Given the description of an element on the screen output the (x, y) to click on. 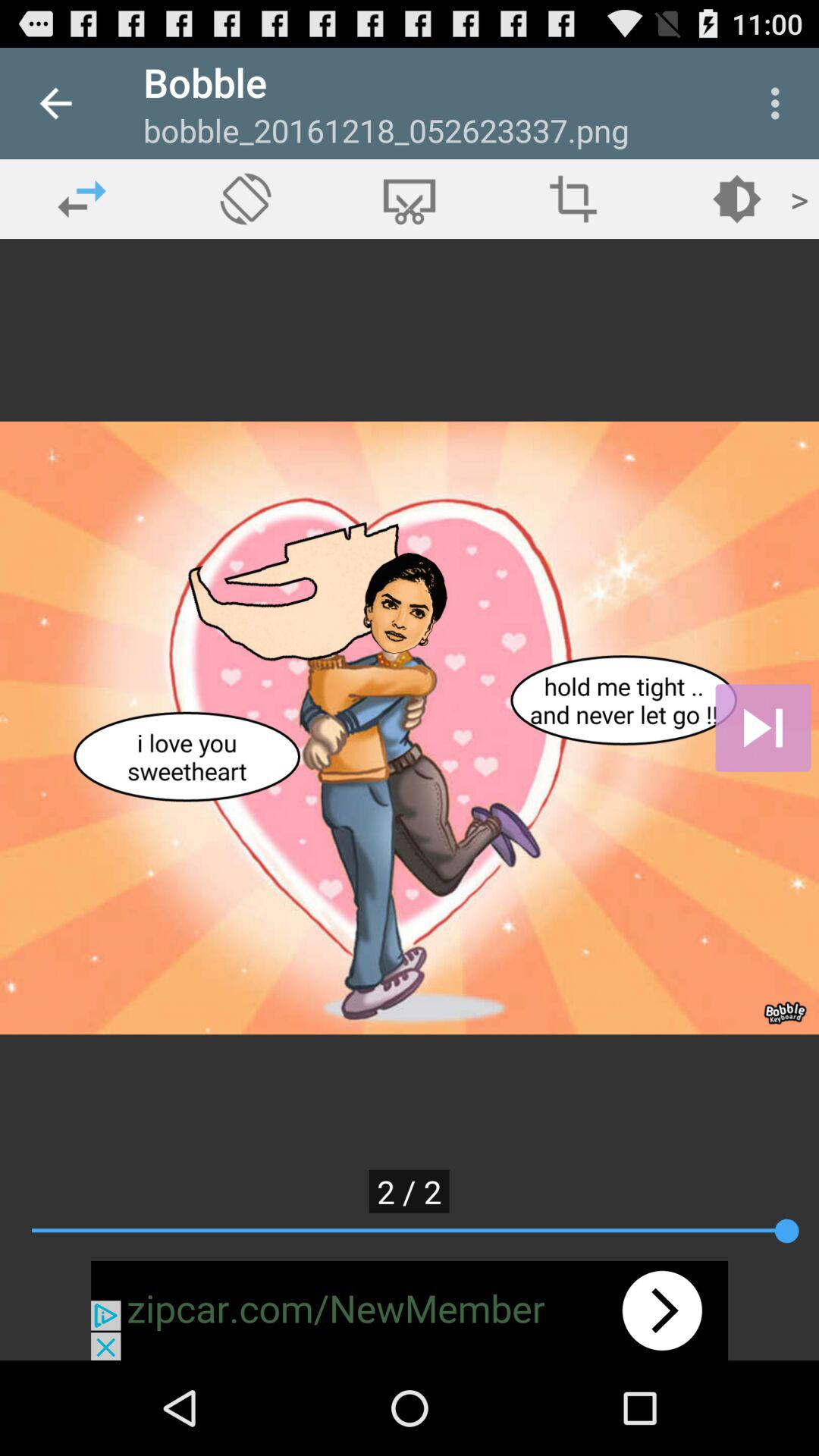
rotate screen (245, 198)
